Given the description of an element on the screen output the (x, y) to click on. 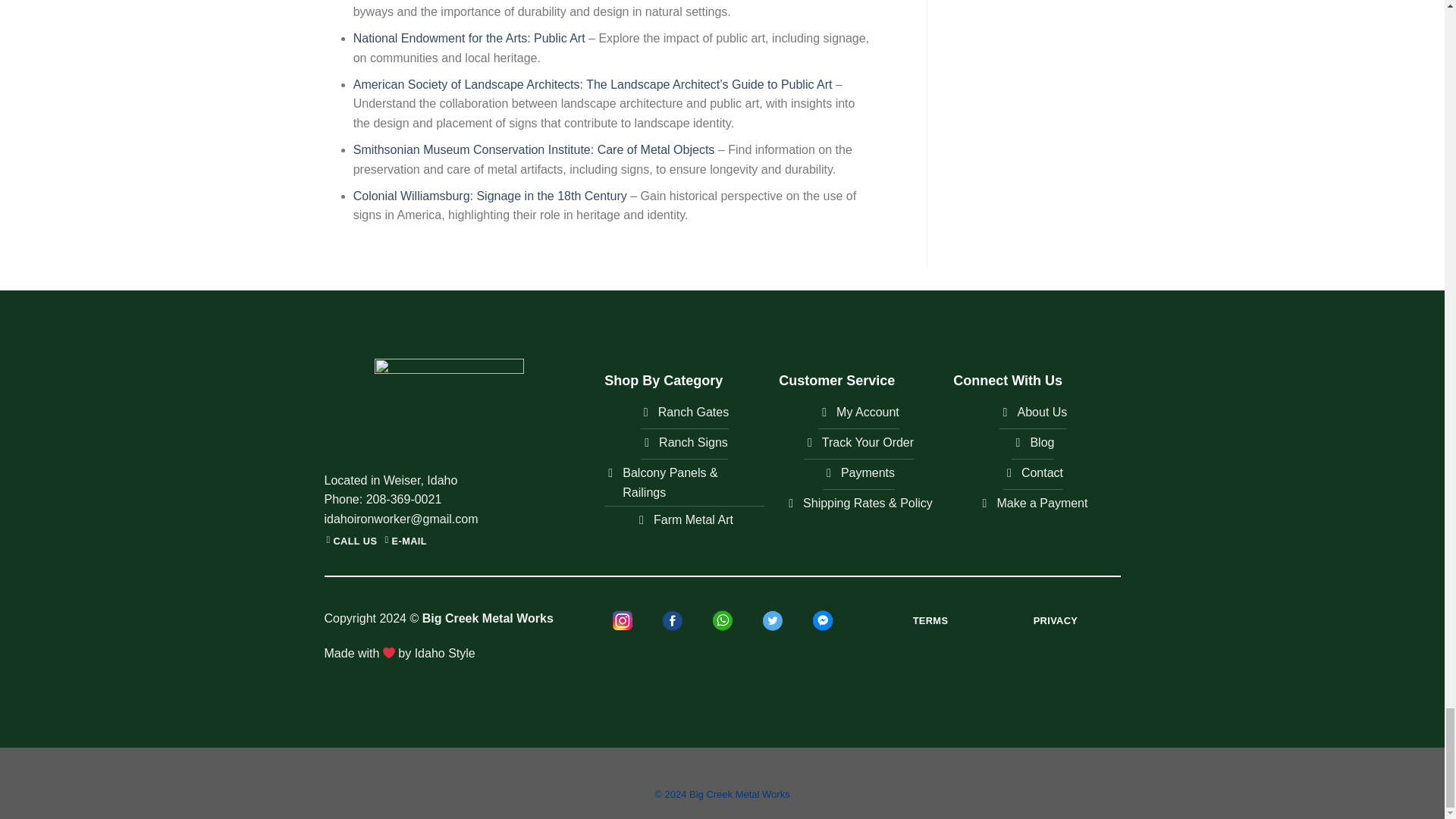
Eagle Idaho Web Design (445, 653)
